Given the description of an element on the screen output the (x, y) to click on. 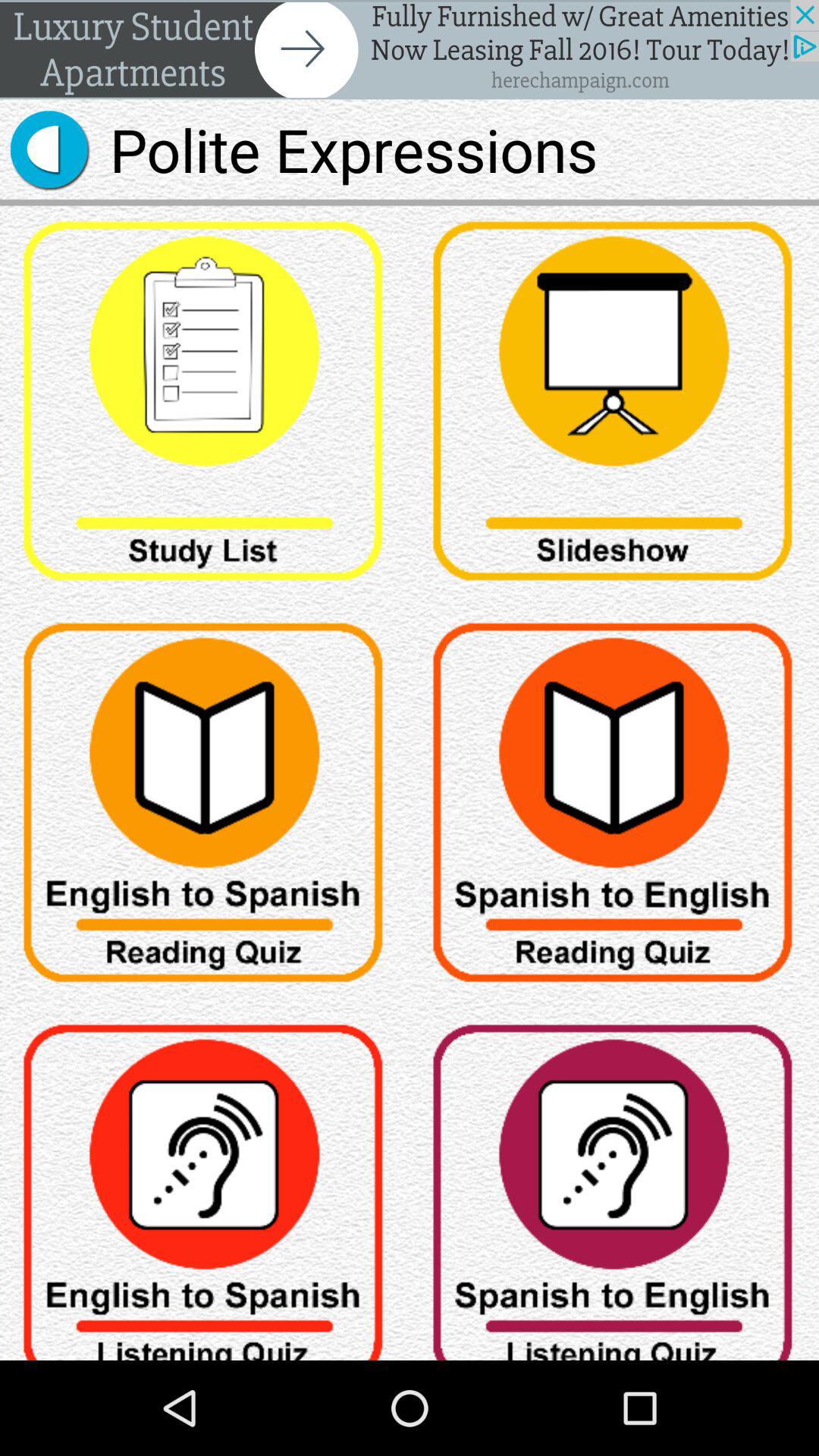
click slideshow (614, 406)
